Given the description of an element on the screen output the (x, y) to click on. 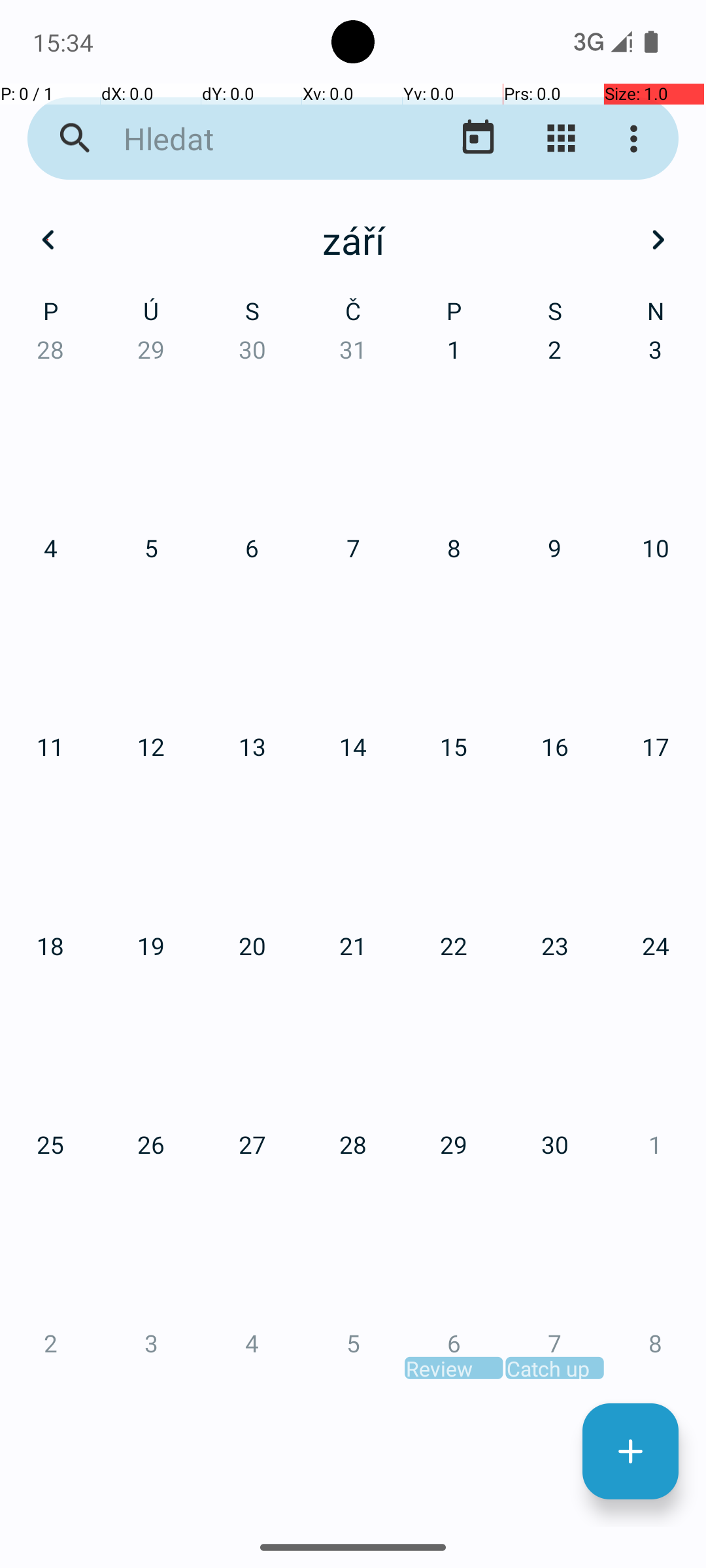
Hledat Element type: android.widget.EditText (252, 138)
Přejít na dnešní datum Element type: android.widget.Button (477, 138)
Změnit zobrazení Element type: android.widget.Button (560, 138)
Další možnosti Element type: android.widget.ImageView (636, 138)
Nová událost Element type: android.widget.ImageButton (630, 1451)
září Element type: android.widget.TextView (352, 239)
